Given the description of an element on the screen output the (x, y) to click on. 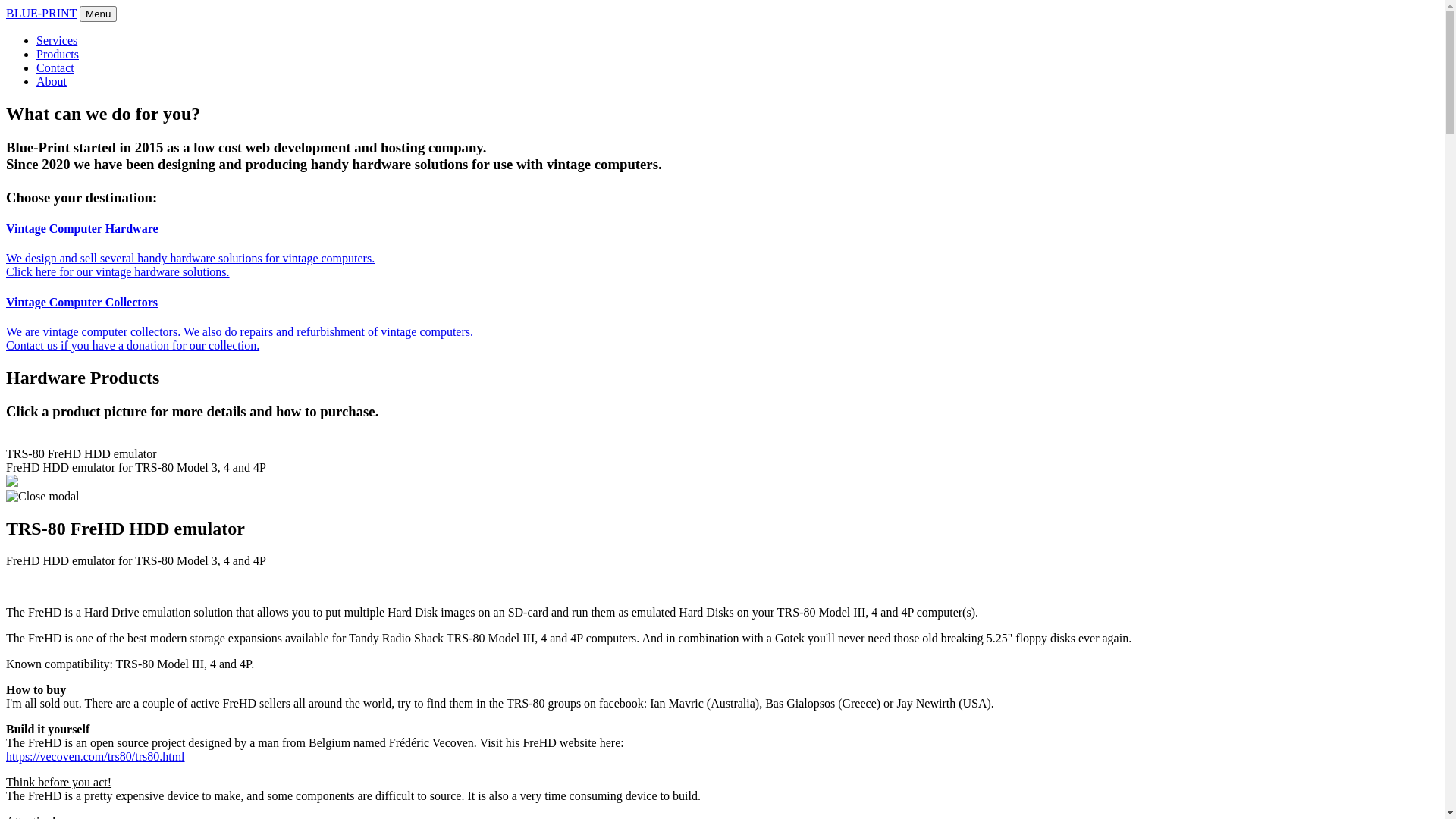
https://vecoven.com/trs80/trs80.html Element type: text (95, 755)
Products Element type: text (57, 53)
About Element type: text (51, 81)
Vintage Computer Collectors Element type: text (81, 301)
Vintage Computer Hardware Element type: text (82, 228)
Contact Element type: text (55, 67)
Menu Element type: text (97, 13)
Services Element type: text (56, 40)
BLUE-PRINT Element type: text (41, 12)
